Given the description of an element on the screen output the (x, y) to click on. 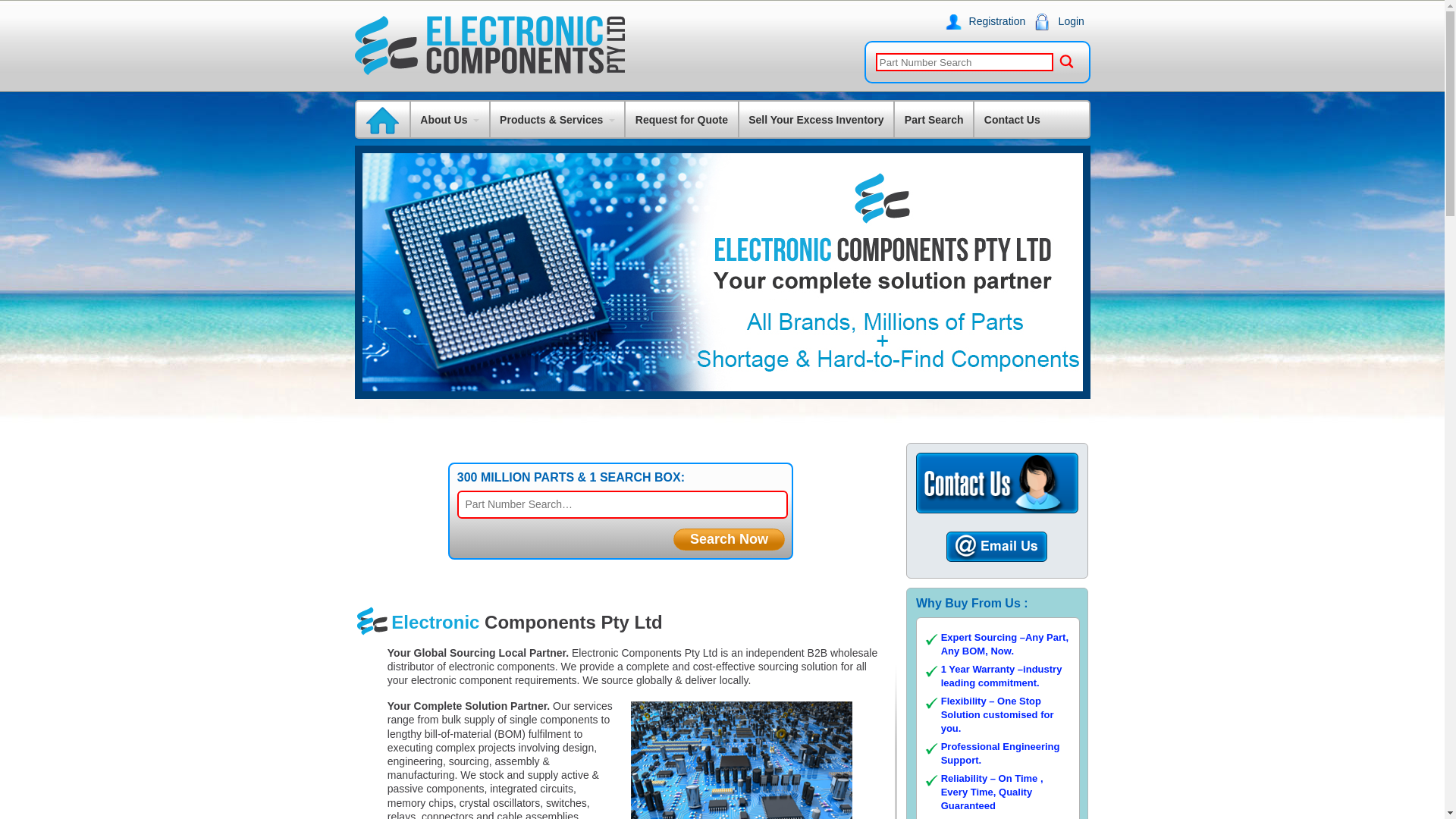
About Us Element type: text (450, 119)
Products & Services Element type: text (556, 119)
Registration Element type: text (990, 21)
Request for Quote Element type: text (681, 119)
Sell Your Excess Inventory Element type: text (816, 119)
Search Now Element type: text (728, 539)
Part Search Element type: text (933, 119)
Login Element type: text (1064, 21)
Contact Us Element type: text (1010, 119)
